Given the description of an element on the screen output the (x, y) to click on. 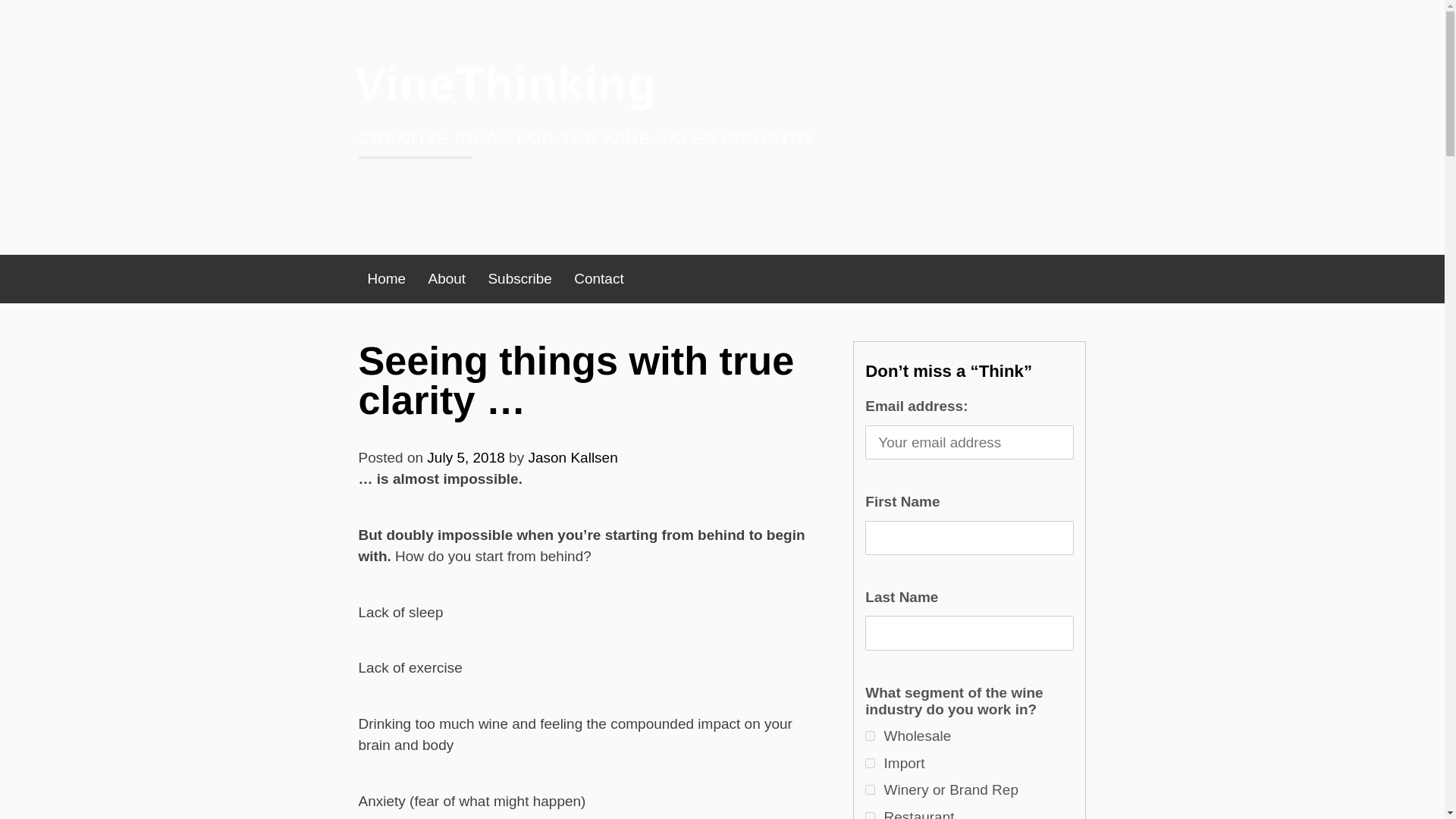
1 (869, 736)
Home (386, 279)
July 5, 2018 (464, 456)
Jason Kallsen (572, 456)
9 (869, 789)
VineThinking (506, 83)
Contact (597, 279)
13 (869, 815)
5 (869, 763)
Subscribe (519, 279)
